Given the description of an element on the screen output the (x, y) to click on. 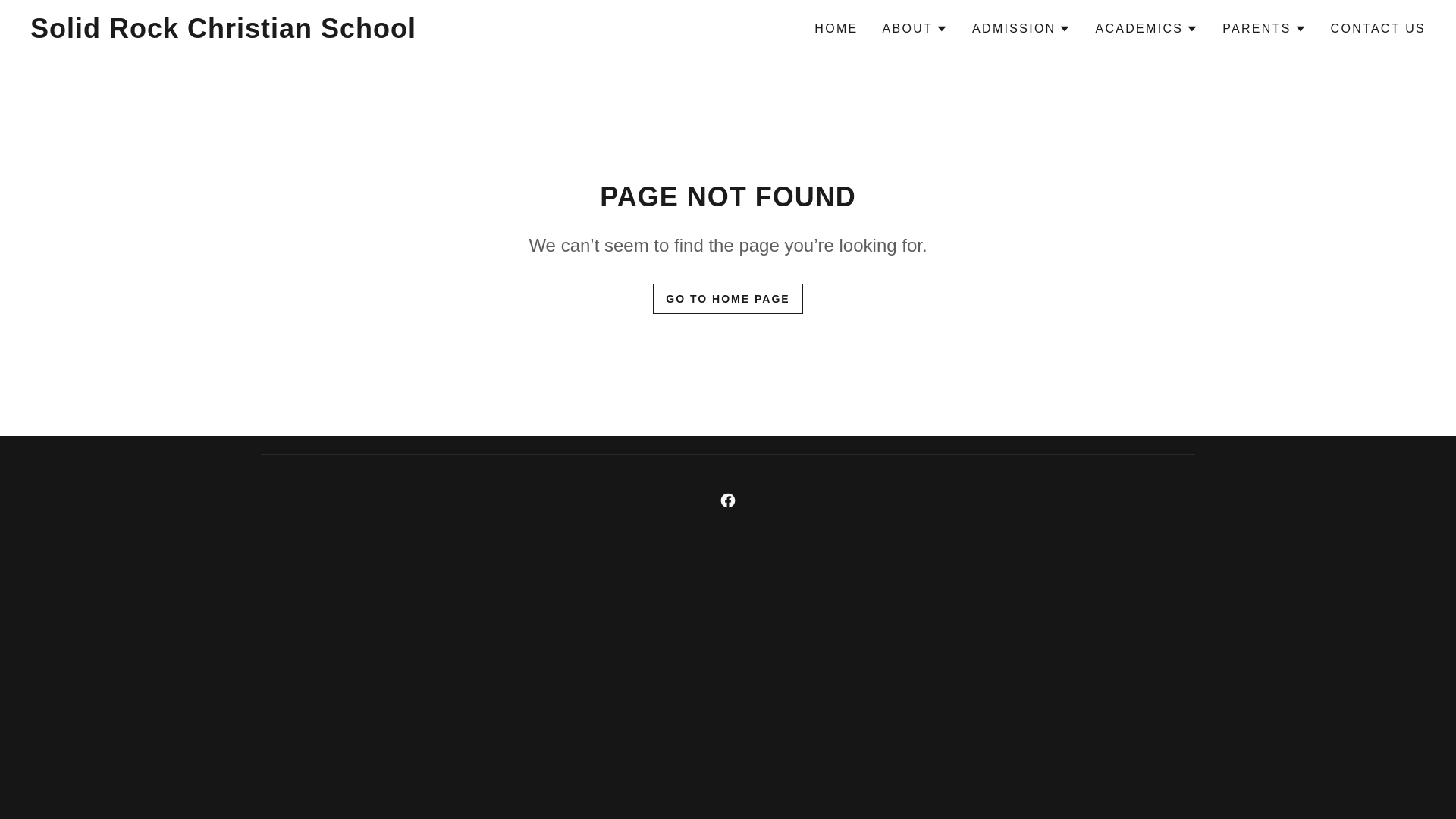
ABOUT (915, 28)
Solid Rock Christian School (227, 32)
ADMISSION (1021, 28)
HOME (835, 28)
CONTACT US (1377, 28)
Solid Rock Christian School (227, 32)
PARENTS (1264, 28)
ACADEMICS (1146, 28)
